Given the description of an element on the screen output the (x, y) to click on. 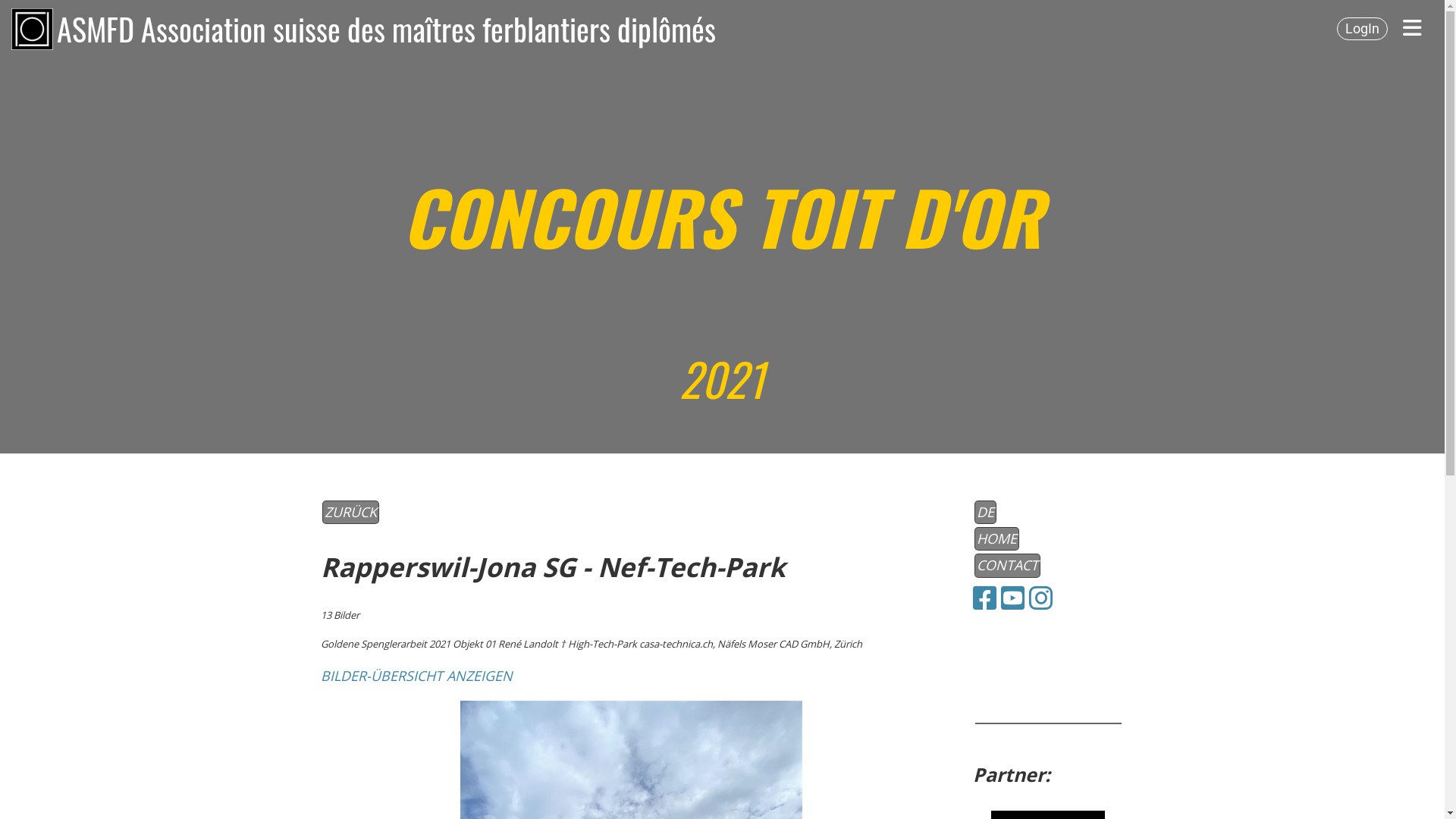
HOME Element type: text (995, 538)
DE Element type: text (984, 512)
CONTACT Element type: text (1006, 565)
LogIn Element type: text (1361, 28)
